Given the description of an element on the screen output the (x, y) to click on. 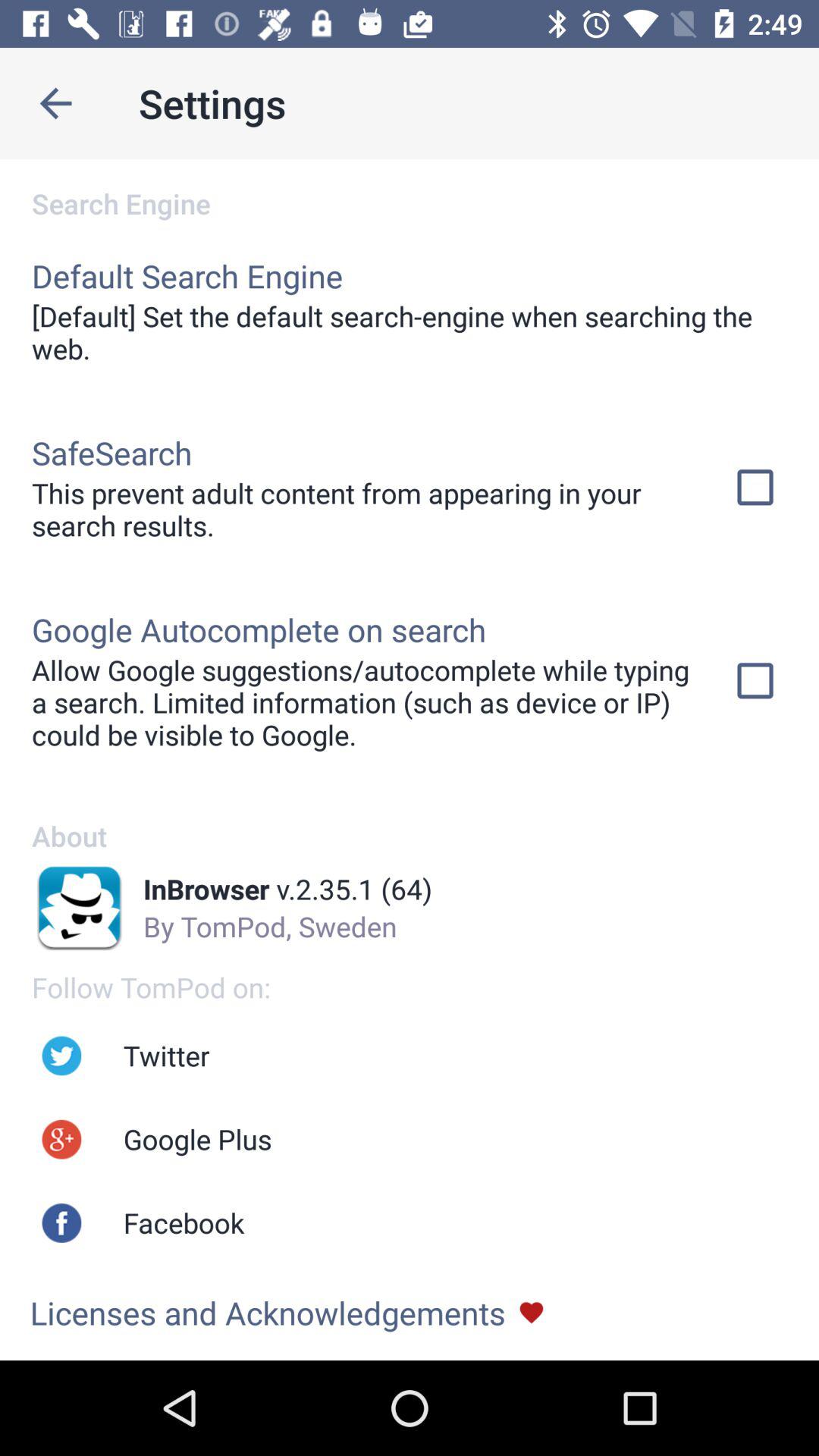
tap the item above about icon (361, 702)
